Given the description of an element on the screen output the (x, y) to click on. 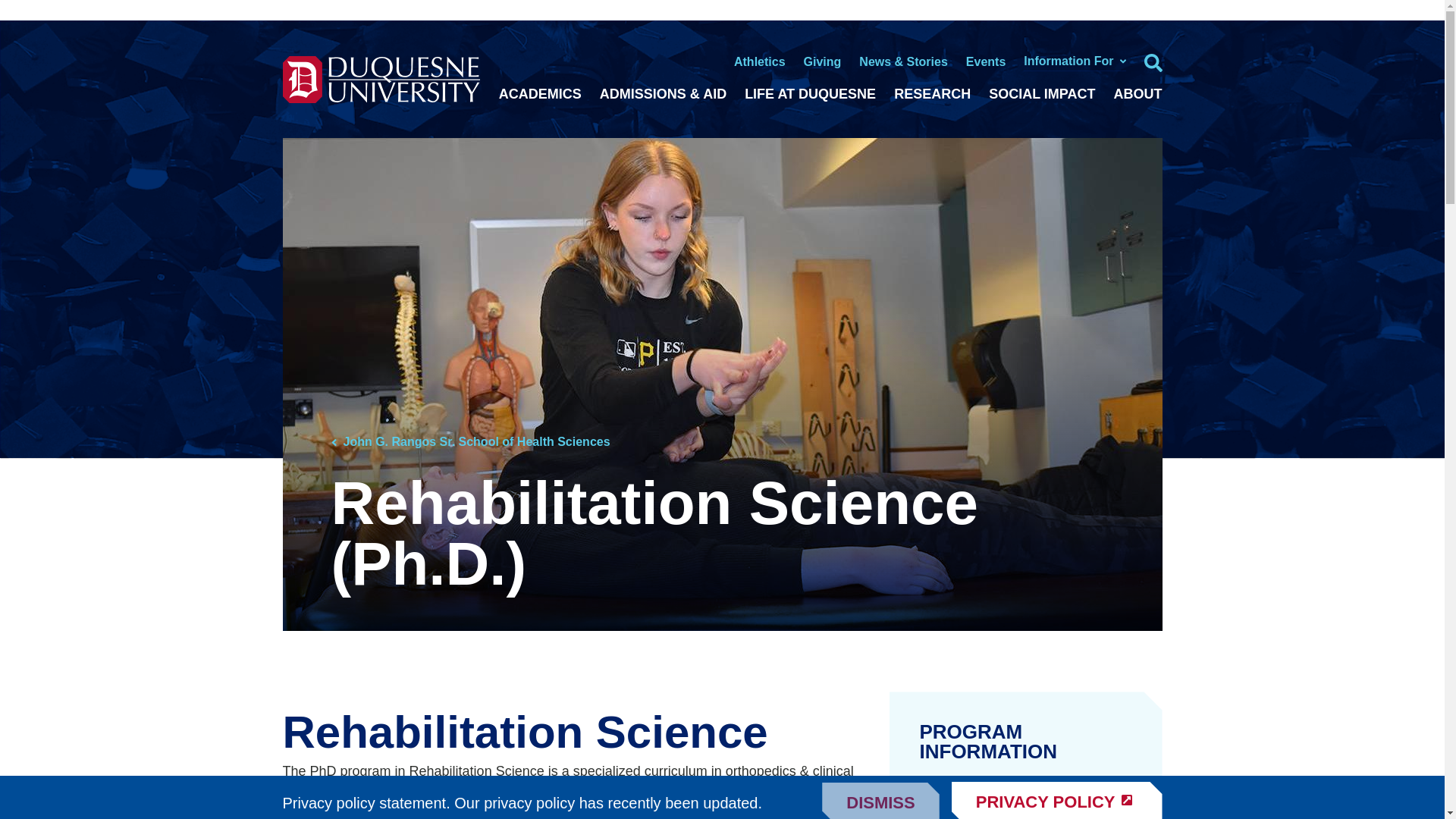
LIFE AT DUQUESNE (810, 93)
ACADEMICS (539, 93)
